Given the description of an element on the screen output the (x, y) to click on. 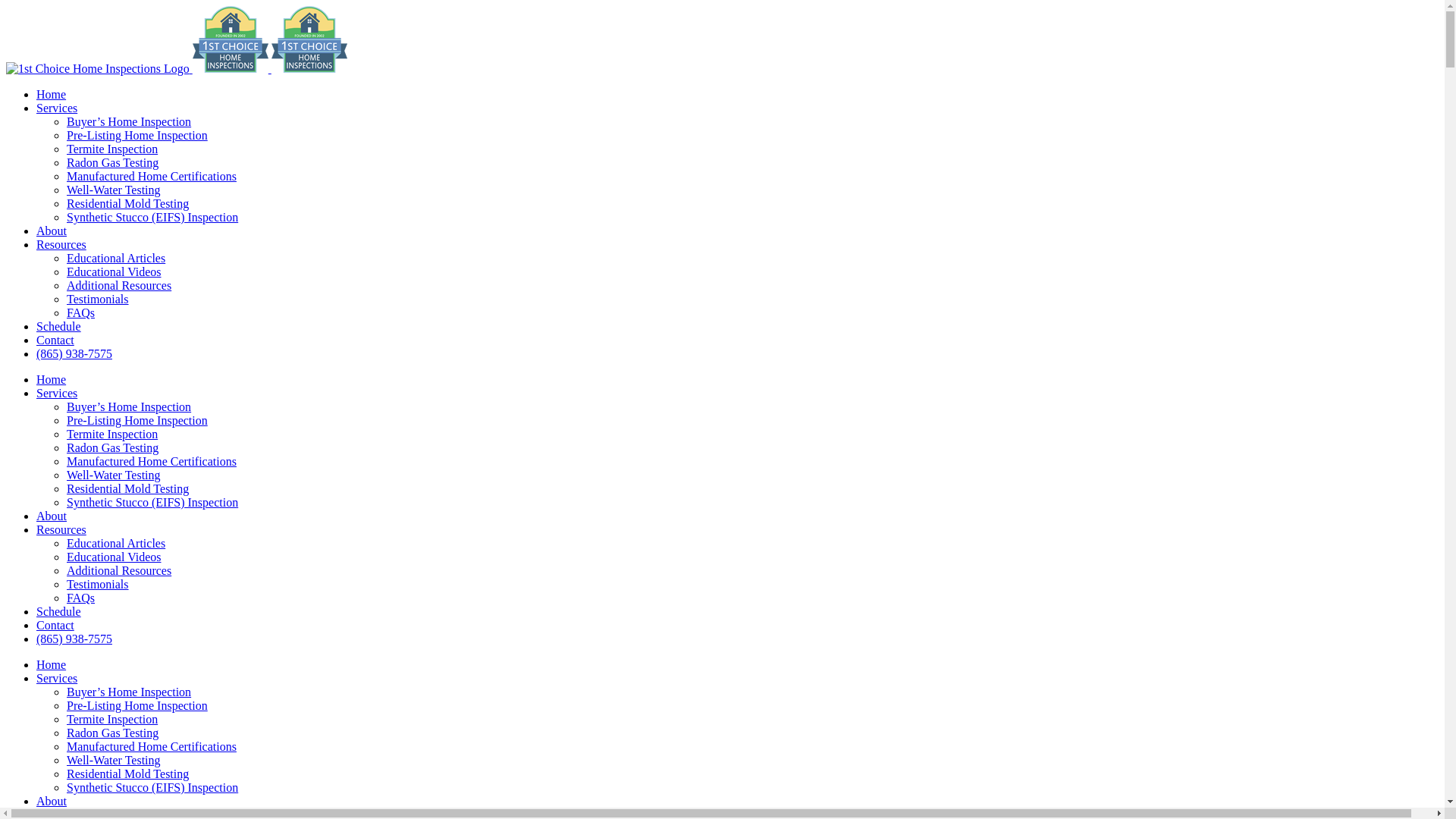
Additional Resources Element type: text (118, 570)
Testimonials Element type: text (97, 583)
Termite Inspection Element type: text (111, 433)
FAQs Element type: text (80, 312)
(865) 938-7575 Element type: text (74, 353)
Pre-Listing Home Inspection Element type: text (136, 134)
Termite Inspection Element type: text (111, 148)
About Element type: text (51, 515)
Skip to content Element type: text (5, 5)
Well-Water Testing Element type: text (113, 759)
Manufactured Home Certifications Element type: text (151, 175)
Contact Element type: text (55, 339)
Residential Mold Testing Element type: text (127, 203)
(865) 938-7575 Element type: text (74, 638)
Services Element type: text (56, 677)
Radon Gas Testing Element type: text (112, 447)
About Element type: text (51, 230)
Synthetic Stucco (EIFS) Inspection Element type: text (152, 216)
FAQs Element type: text (80, 597)
Contact Element type: text (55, 624)
Well-Water Testing Element type: text (113, 474)
Radon Gas Testing Element type: text (112, 732)
Additional Resources Element type: text (118, 285)
Manufactured Home Certifications Element type: text (151, 461)
Educational Articles Element type: text (115, 542)
Termite Inspection Element type: text (111, 718)
Services Element type: text (56, 392)
Schedule Element type: text (58, 611)
Home Element type: text (50, 93)
Home Element type: text (50, 379)
Schedule Element type: text (58, 326)
Testimonials Element type: text (97, 298)
About Element type: text (51, 800)
Pre-Listing Home Inspection Element type: text (136, 420)
Manufactured Home Certifications Element type: text (151, 746)
Radon Gas Testing Element type: text (112, 162)
Resources Element type: text (61, 244)
Resources Element type: text (61, 529)
Synthetic Stucco (EIFS) Inspection Element type: text (152, 501)
Educational Videos Element type: text (113, 271)
Residential Mold Testing Element type: text (127, 488)
Educational Videos Element type: text (113, 556)
Home Element type: text (50, 664)
Synthetic Stucco (EIFS) Inspection Element type: text (152, 787)
Services Element type: text (56, 107)
Well-Water Testing Element type: text (113, 189)
Residential Mold Testing Element type: text (127, 773)
Pre-Listing Home Inspection Element type: text (136, 705)
Educational Articles Element type: text (115, 257)
